Given the description of an element on the screen output the (x, y) to click on. 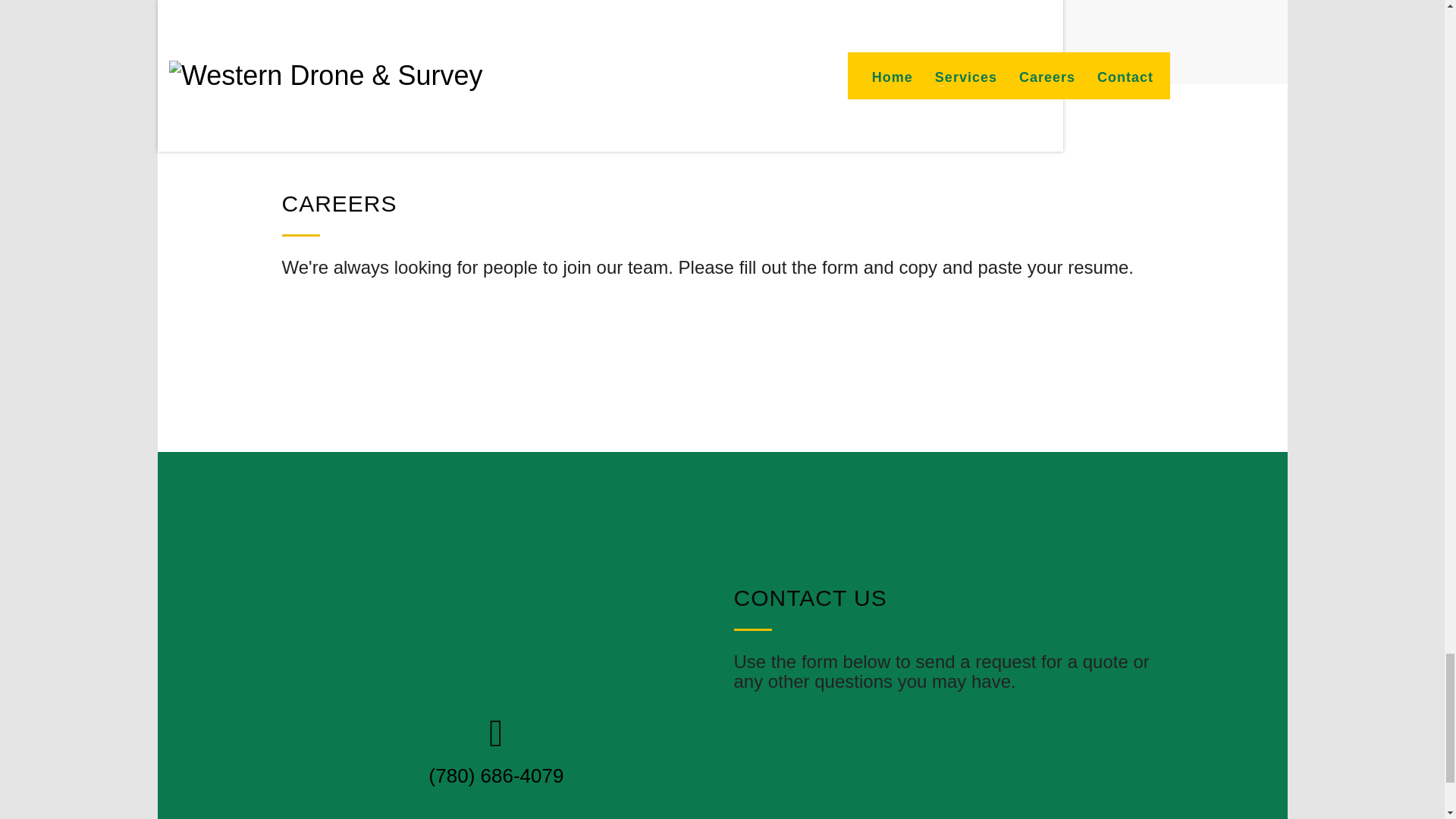
western-horizontal-colour (496, 620)
